Given the description of an element on the screen output the (x, y) to click on. 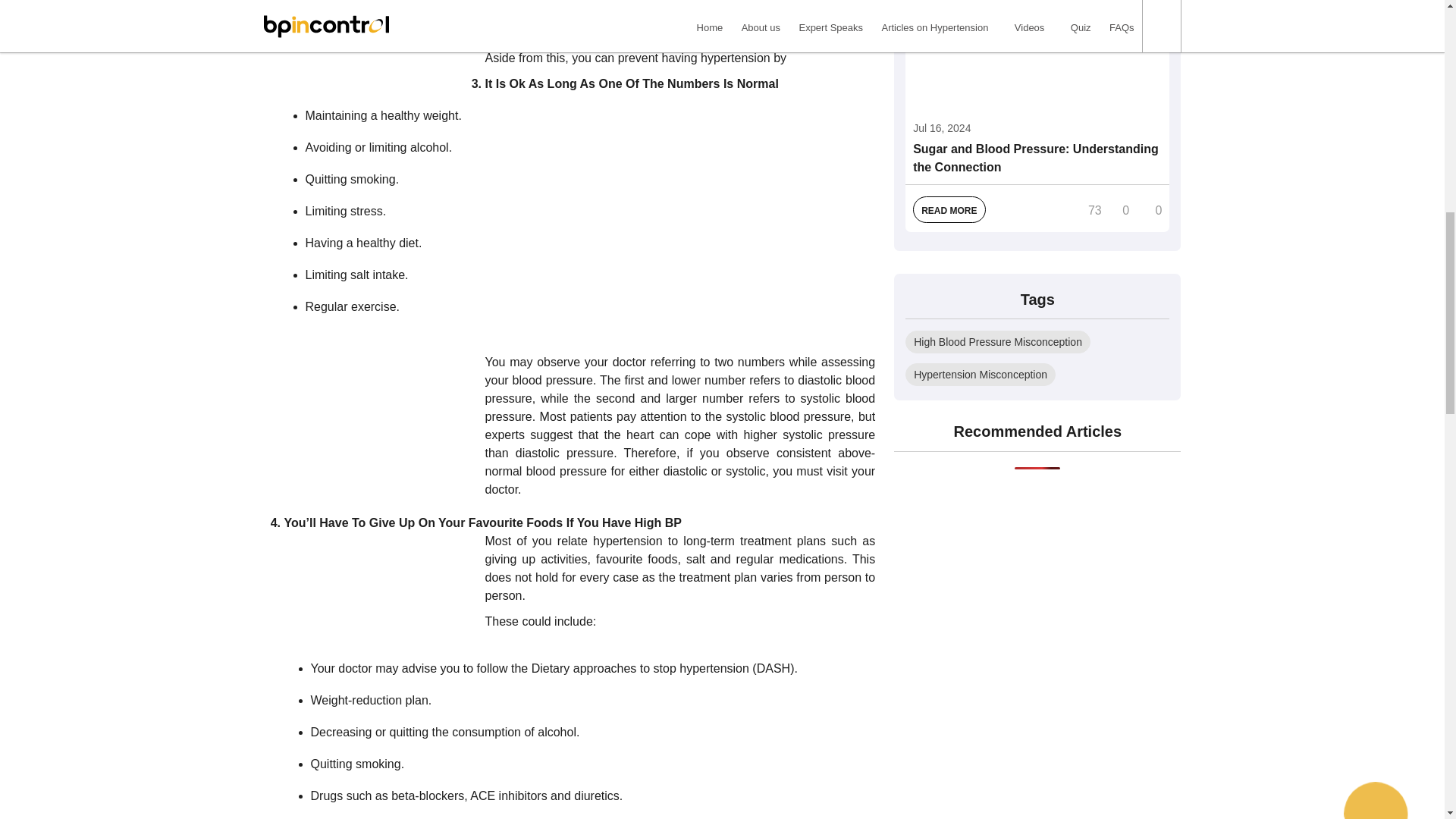
High Blood Pressure Misconception (997, 341)
Hypertension Misconception (980, 374)
